Given the description of an element on the screen output the (x, y) to click on. 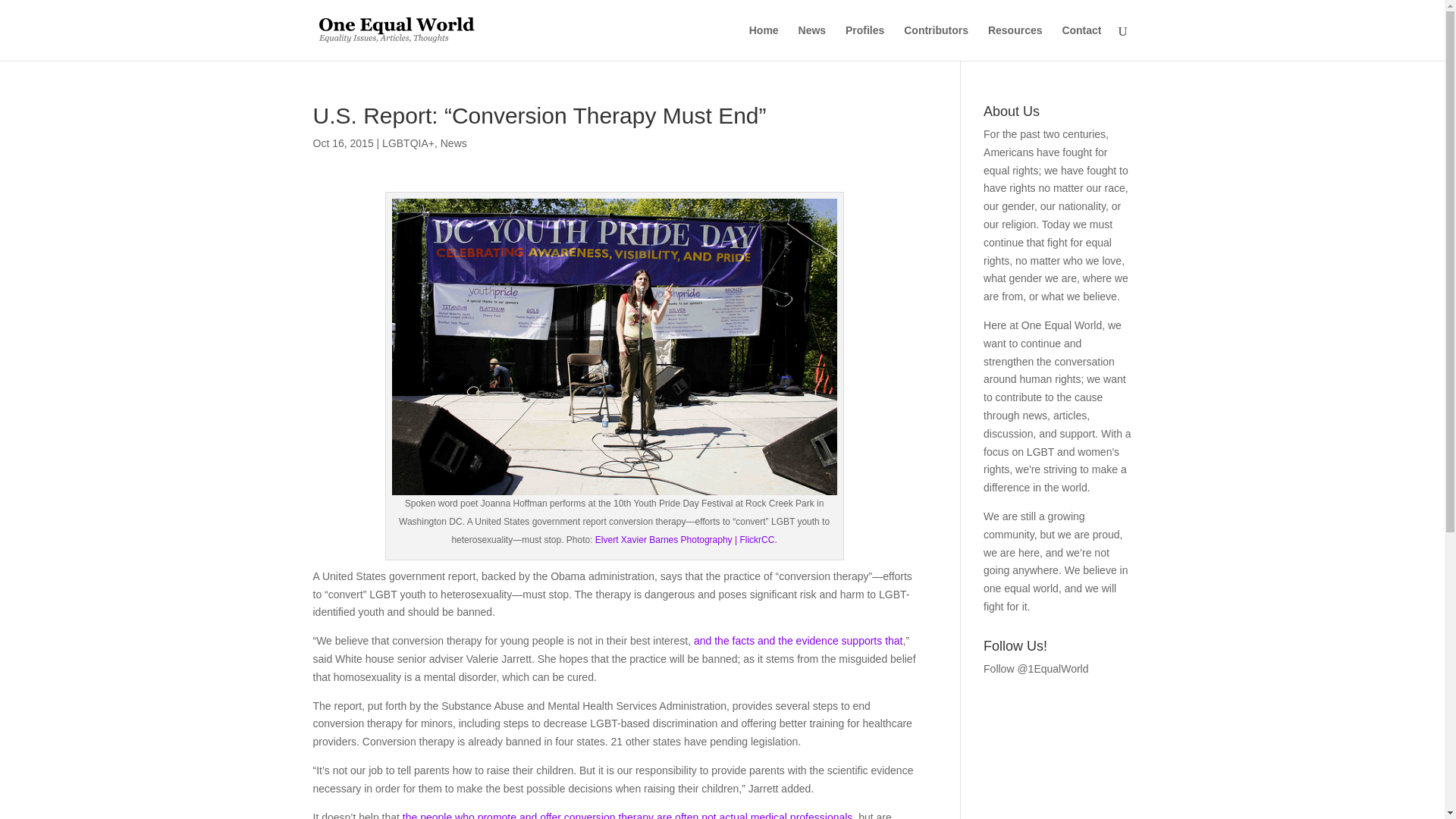
Resources (1015, 42)
Profiles (864, 42)
Contact (1080, 42)
Contributors (936, 42)
News (454, 143)
and the facts and the evidence supports that (798, 640)
